Given the description of an element on the screen output the (x, y) to click on. 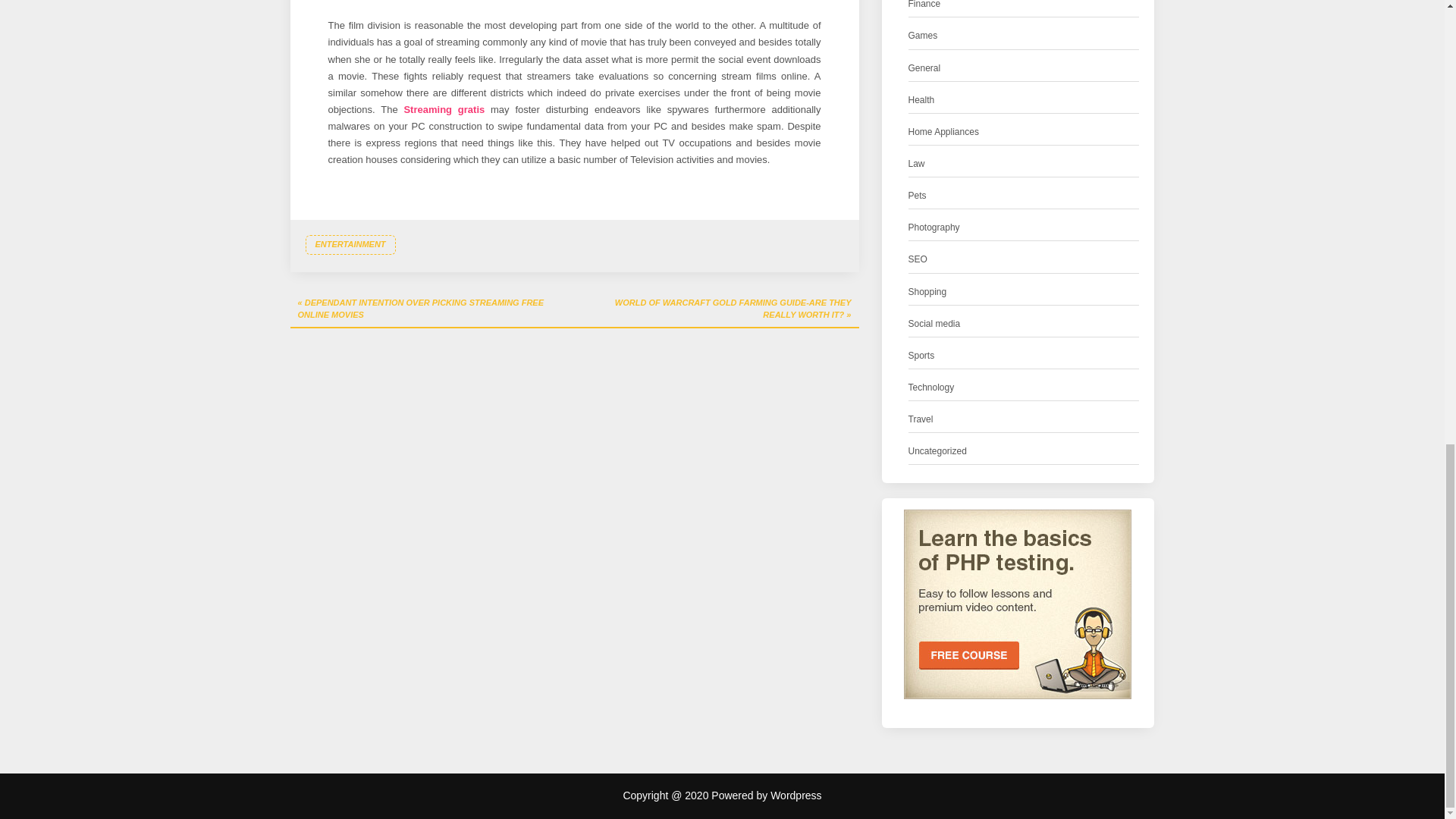
Streaming gratis (443, 109)
